Given the description of an element on the screen output the (x, y) to click on. 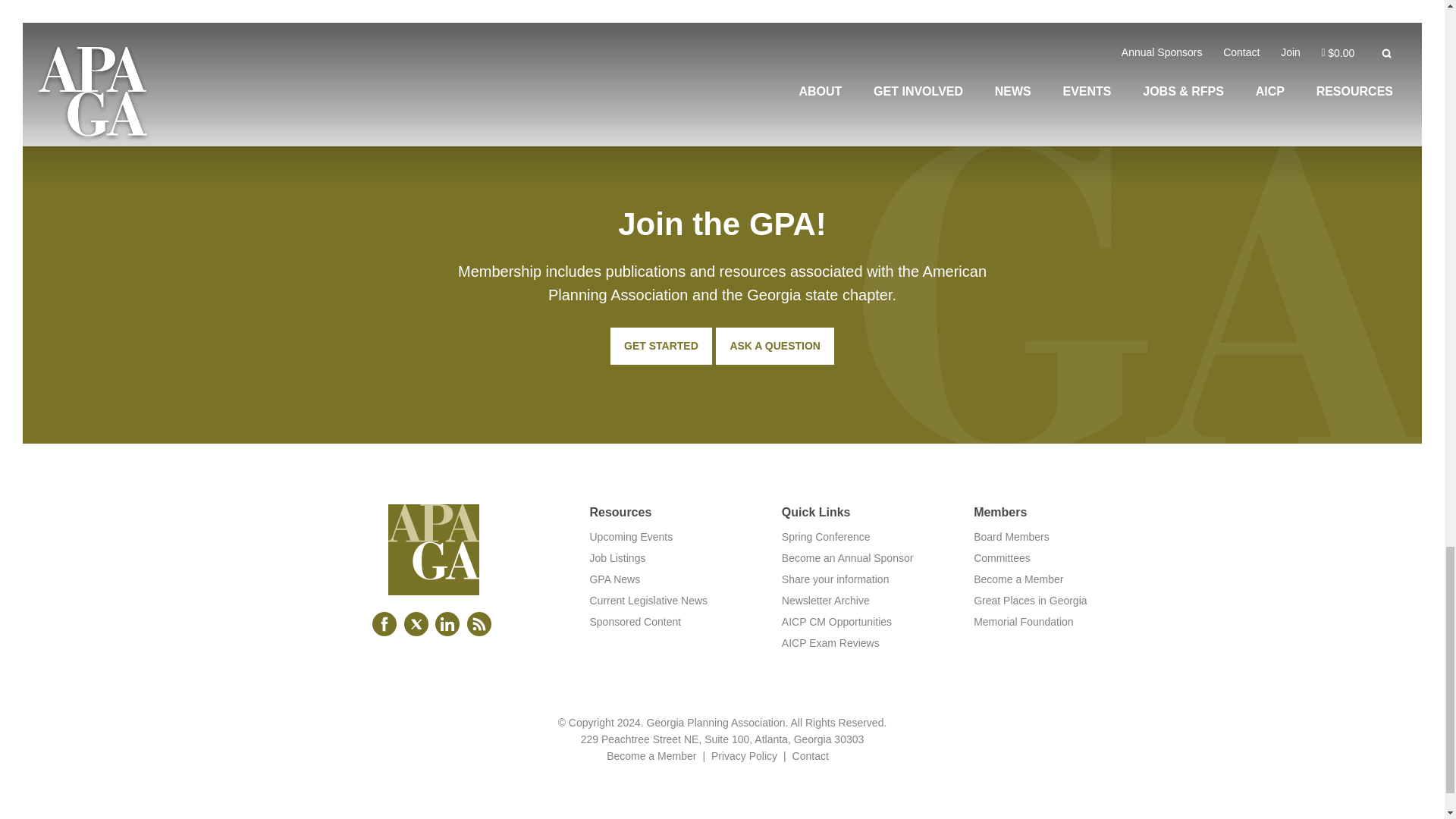
Georgia Planning Association (433, 583)
